Given the description of an element on the screen output the (x, y) to click on. 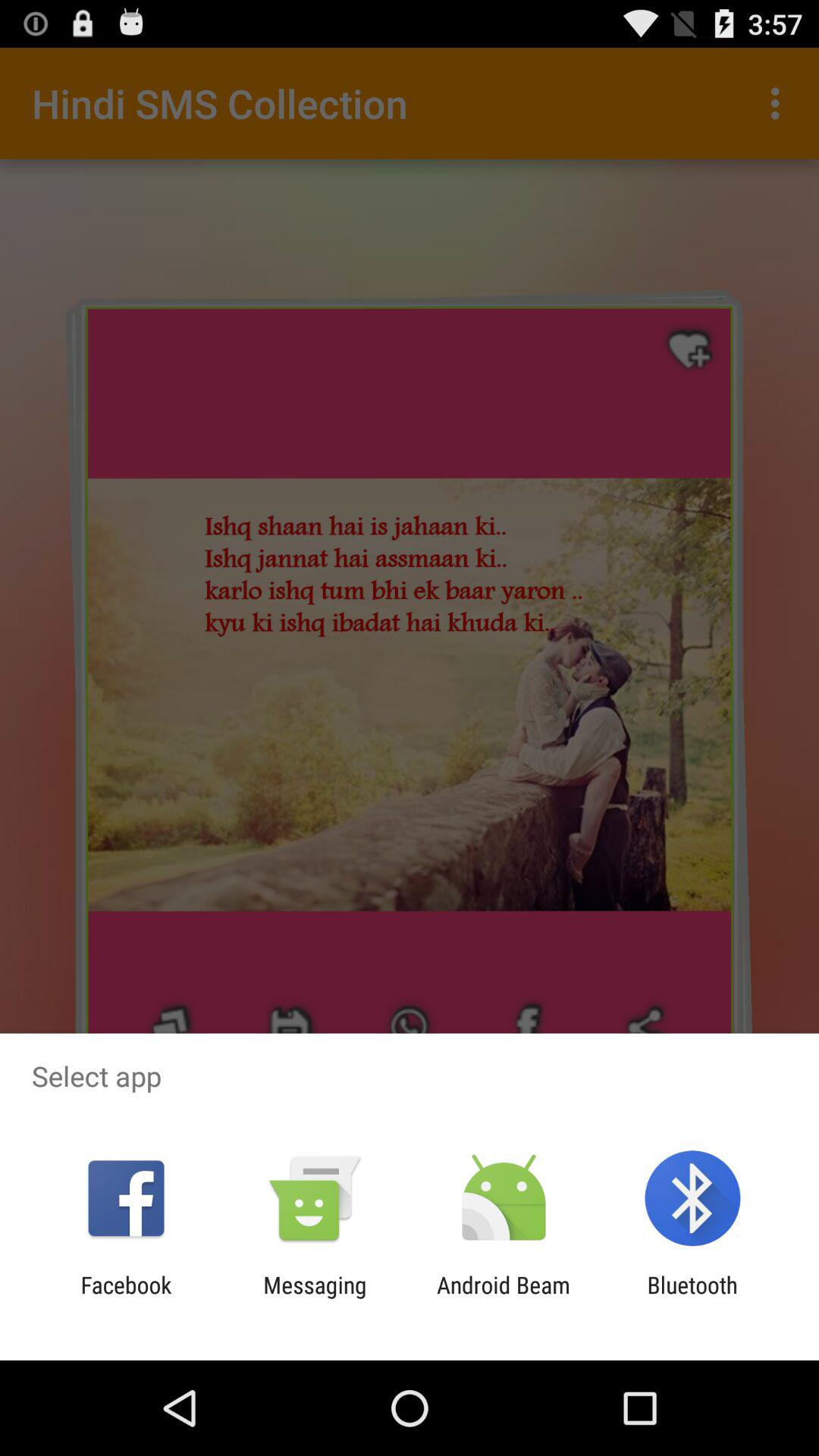
click the messaging item (314, 1298)
